Given the description of an element on the screen output the (x, y) to click on. 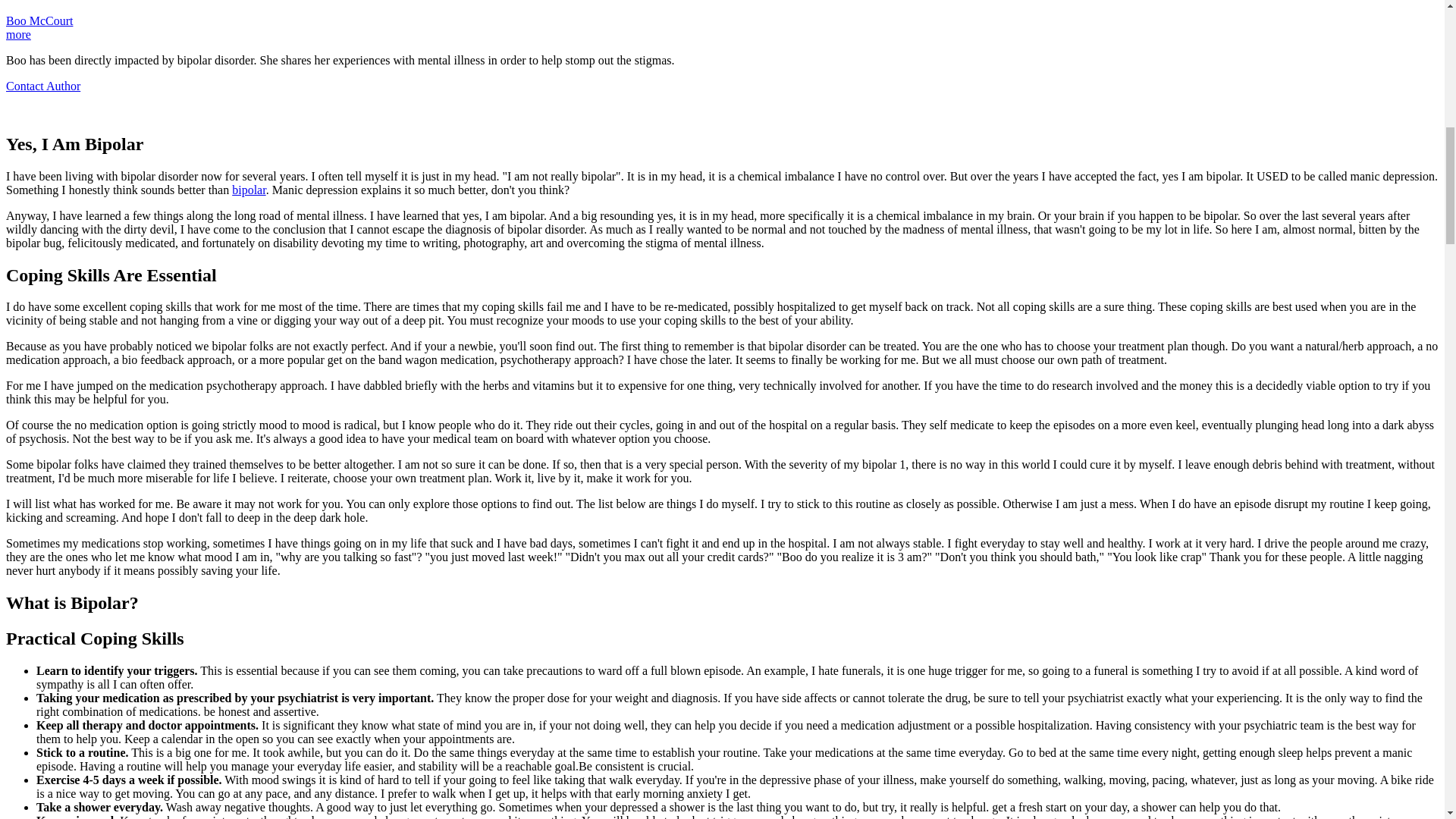
Contact Author (42, 85)
bipolar (247, 189)
